Given the description of an element on the screen output the (x, y) to click on. 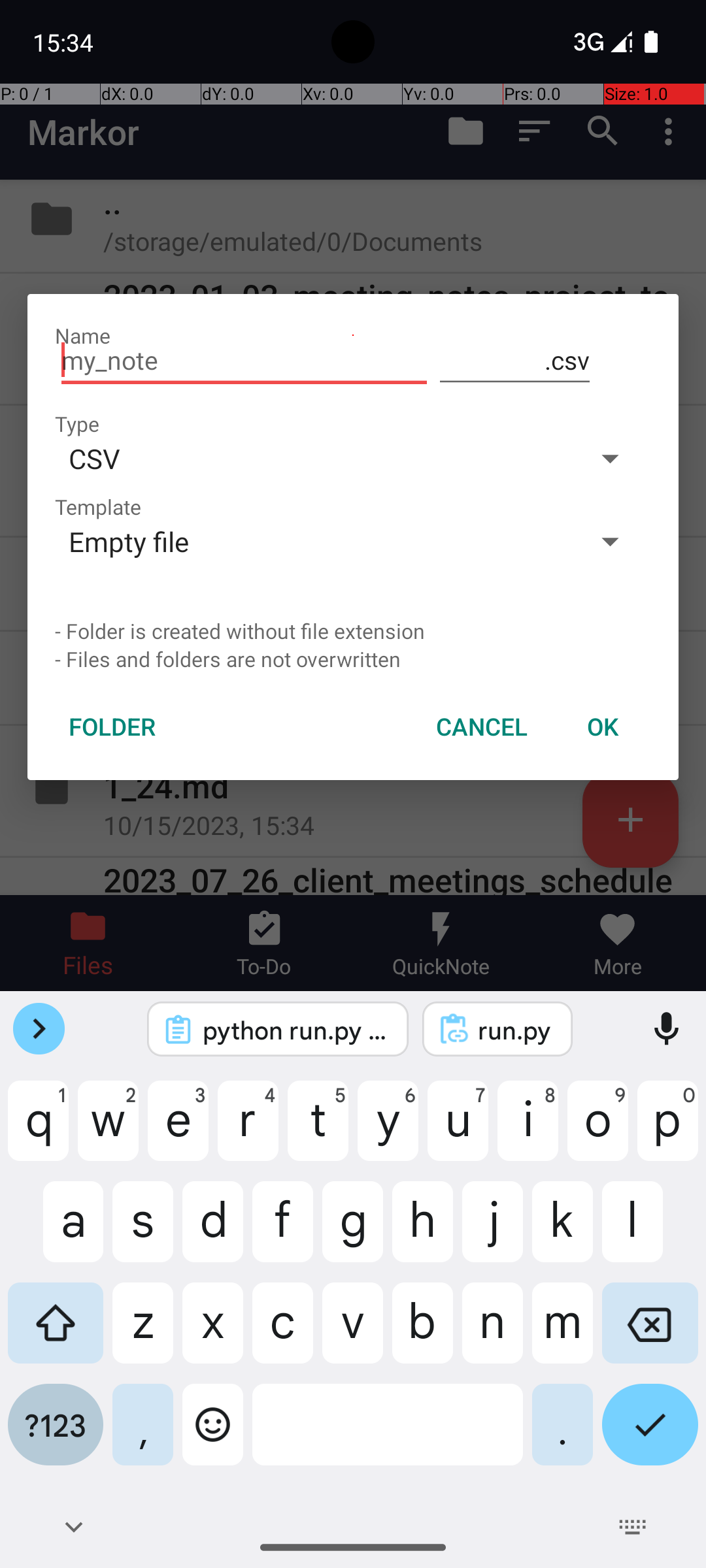
.csv Element type: android.widget.EditText (514, 360)
python run.py \   --suite_family=android_world \   --agent_name=t3a_gpt4 \   --perform_emulator_setup \   --tasks=ContactsAddContact,ClockStopWatchRunning \  # Optional: Just run on a subset. Element type: android.widget.TextView (294, 1029)
run.py Element type: android.widget.TextView (514, 1029)
